Given the description of an element on the screen output the (x, y) to click on. 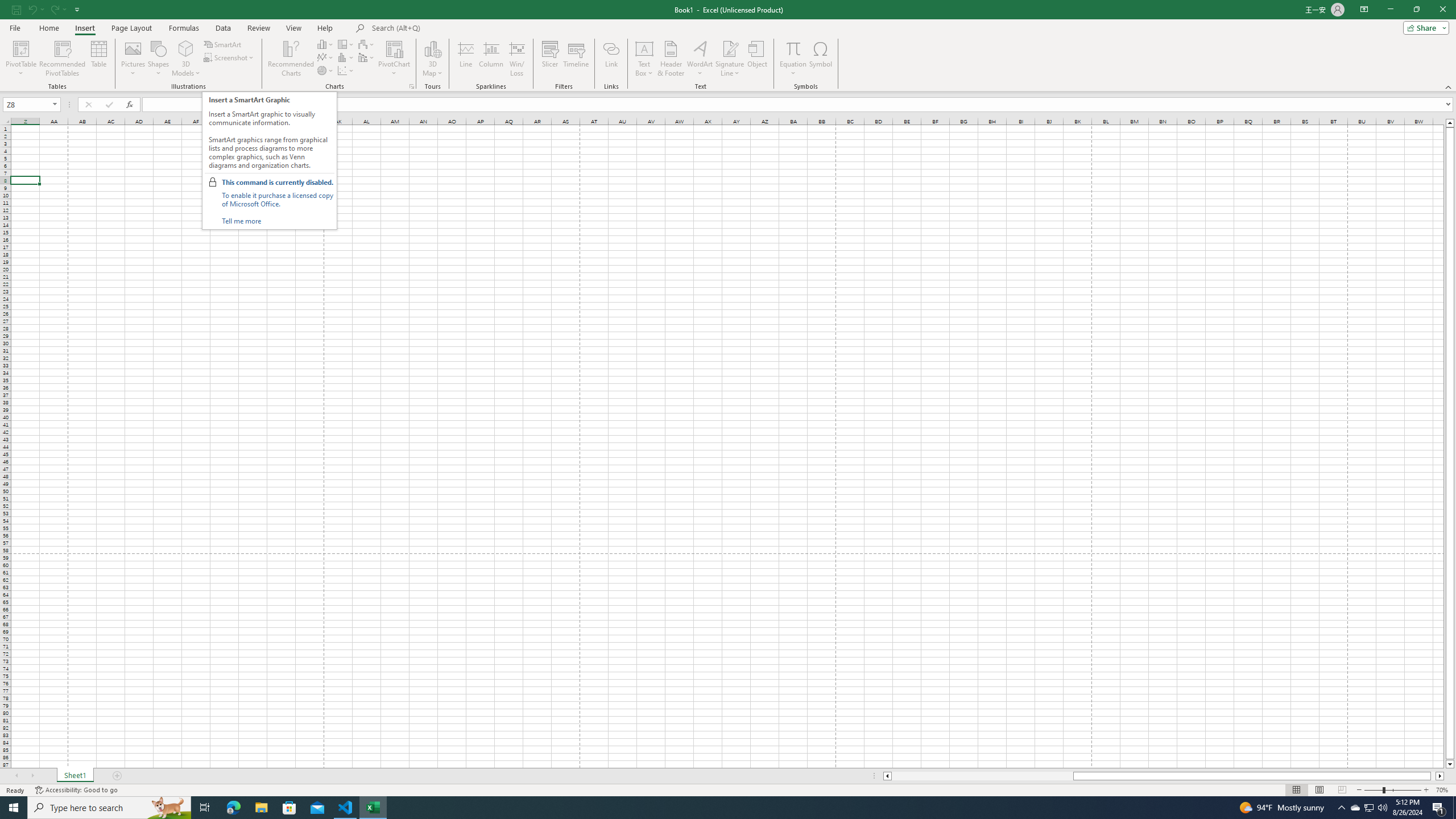
Text Box (643, 58)
Table (98, 58)
Insert Column or Bar Chart (325, 44)
Microsoft search (450, 28)
Line up (1449, 122)
PivotTable (20, 48)
Name Box (27, 104)
SmartArt... (223, 44)
Timeline (575, 58)
Zoom (1392, 790)
PivotTable (20, 58)
Symbol... (821, 58)
Undo (31, 9)
